Given the description of an element on the screen output the (x, y) to click on. 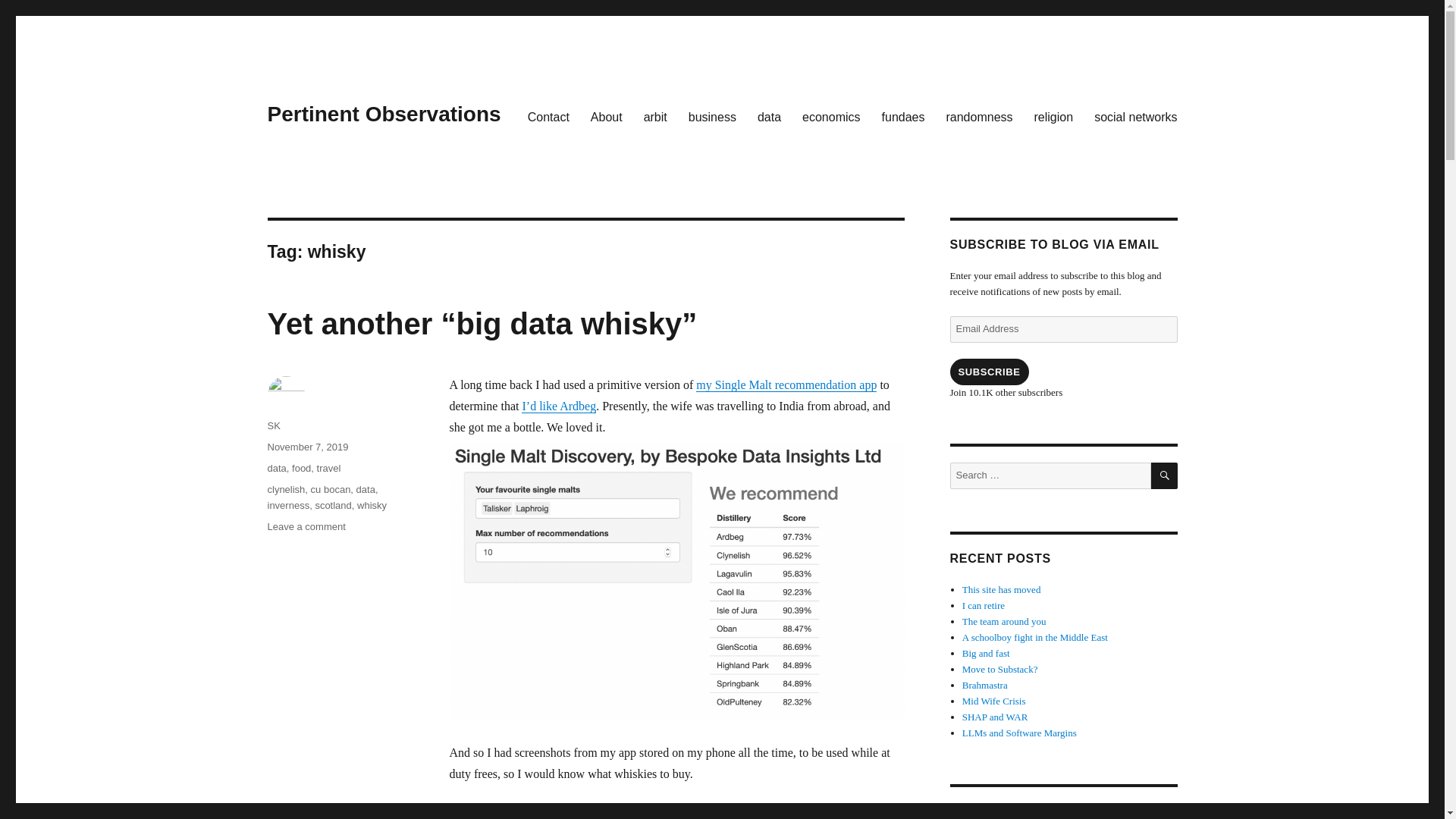
data (275, 468)
randomness (978, 116)
SK (272, 425)
inverness (287, 505)
November 7, 2019 (306, 446)
data (769, 116)
fundaes (903, 116)
social networks (1135, 116)
my Single Malt recommendation app (785, 384)
economics (831, 116)
